Given the description of an element on the screen output the (x, y) to click on. 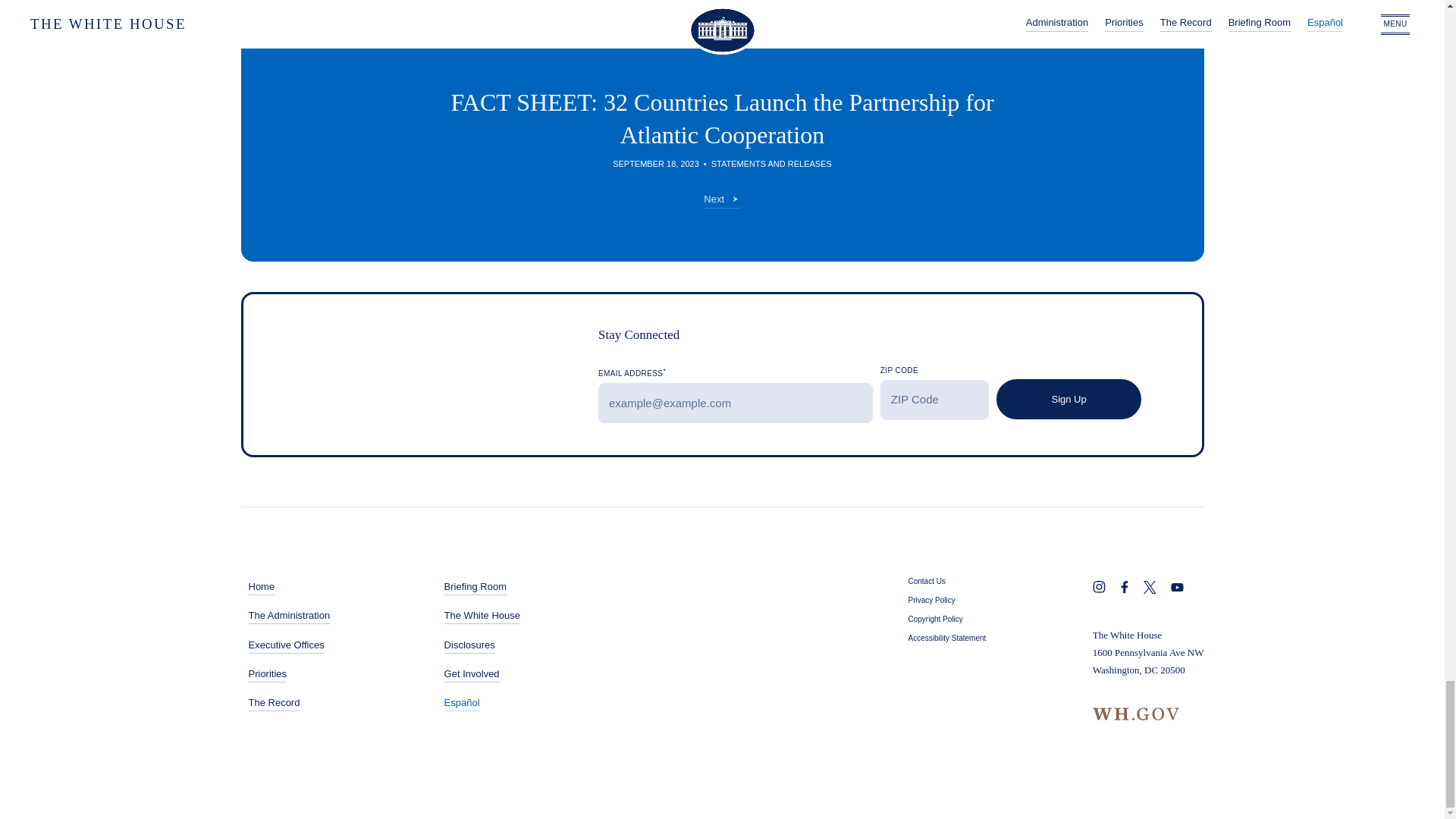
Sign Up (1068, 399)
